Given the description of an element on the screen output the (x, y) to click on. 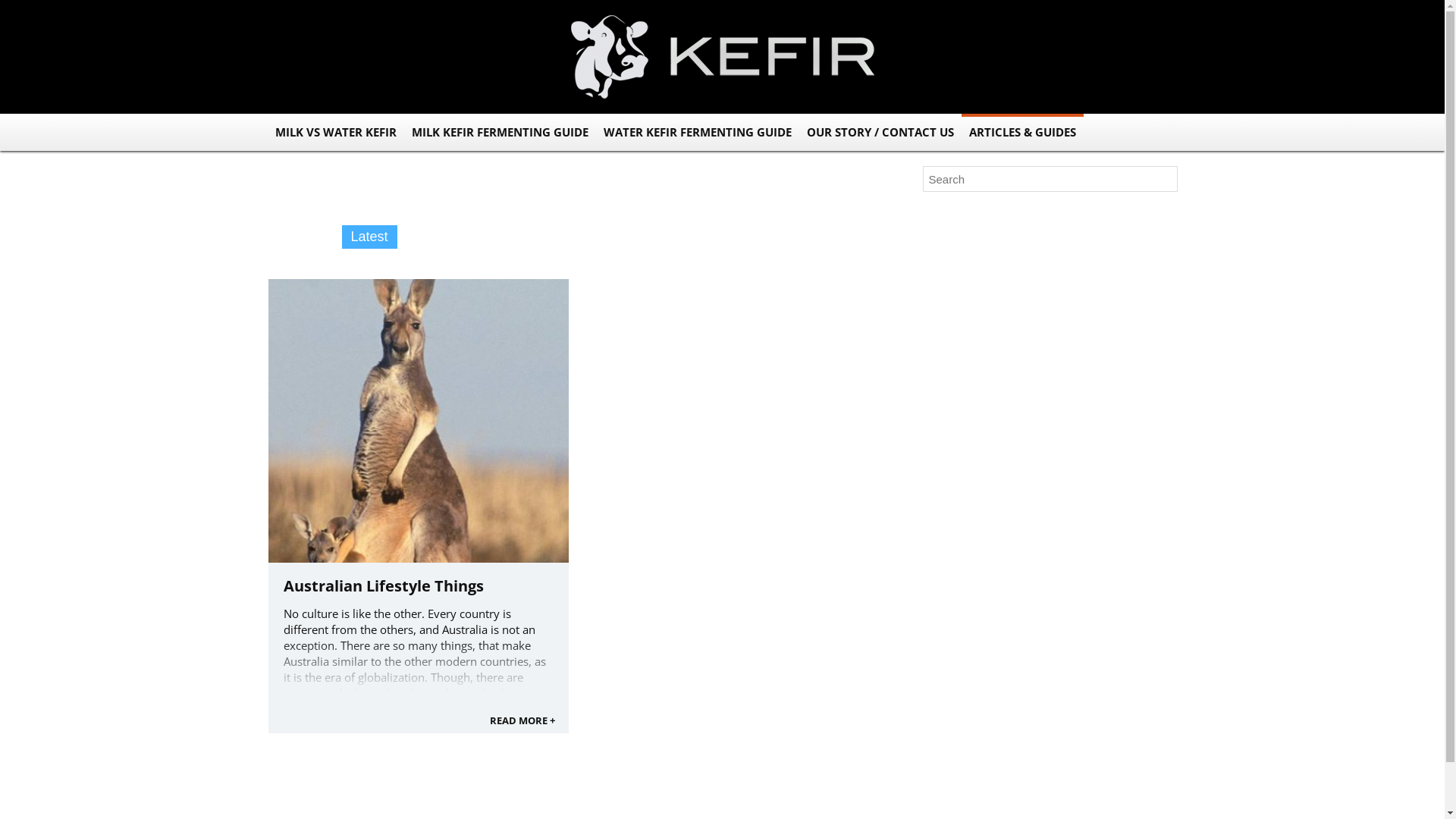
September 2019 Element type: text (964, 377)
READ MORE + Element type: text (522, 720)
Australian Lifestyle Things Element type: text (988, 250)
Entries feed Element type: text (952, 531)
MILK VS WATER KEFIR Element type: text (334, 131)
WordPress.org Element type: text (959, 557)
OUR STORY / CONTACT US Element type: text (880, 131)
MILK KEFIR FERMENTING GUIDE Element type: text (499, 131)
Australian Lifestyle Things Element type: text (383, 585)
Log in Element type: text (937, 518)
Australian Lifestyle: Articles & Guides Element type: text (1016, 448)
WATER KEFIR FERMENTING GUIDE Element type: text (697, 131)
ARTICLES & GUIDES Element type: text (1022, 131)
Comments feed Element type: text (962, 544)
